Given the description of an element on the screen output the (x, y) to click on. 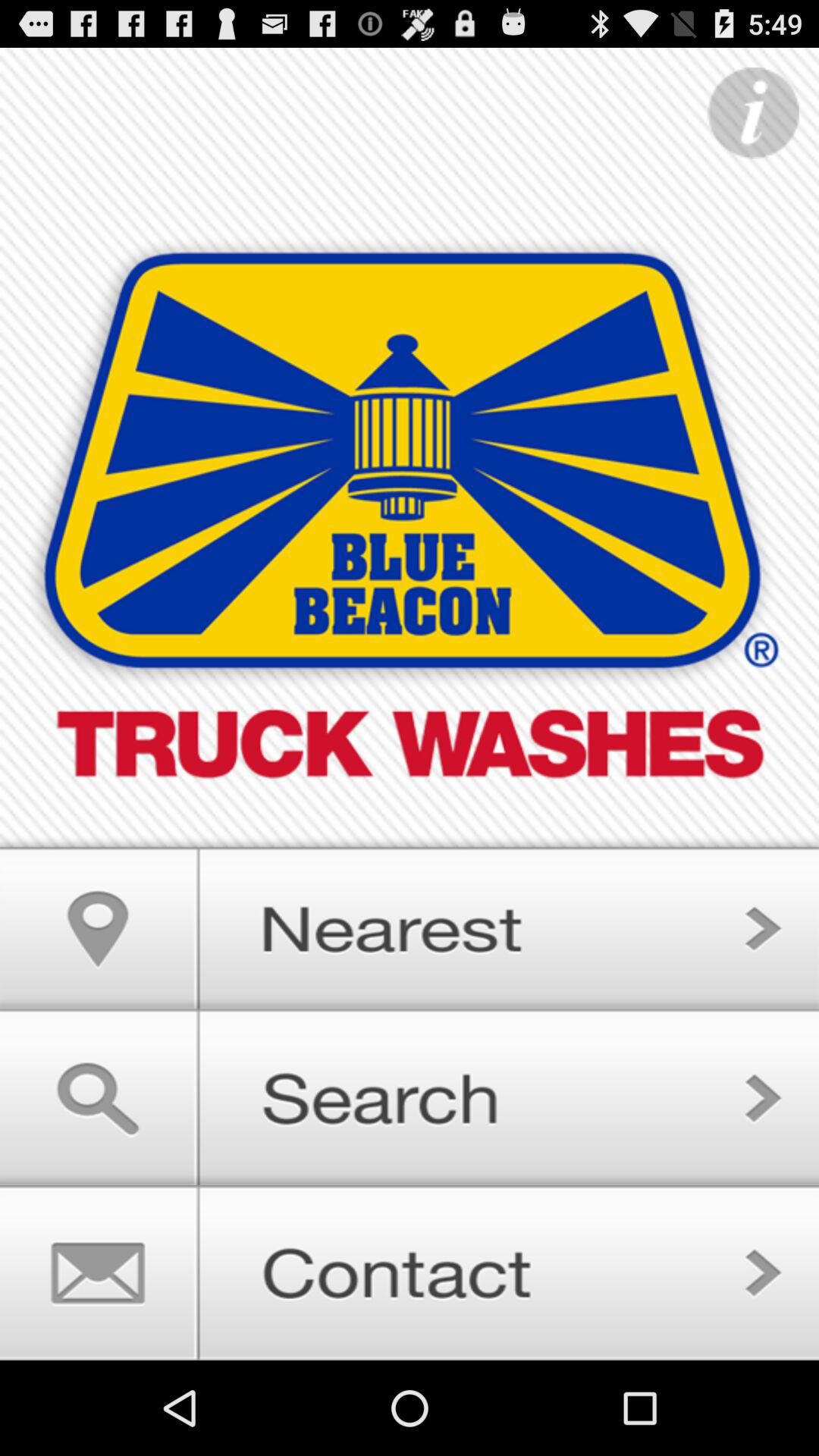
go to help (753, 113)
